Given the description of an element on the screen output the (x, y) to click on. 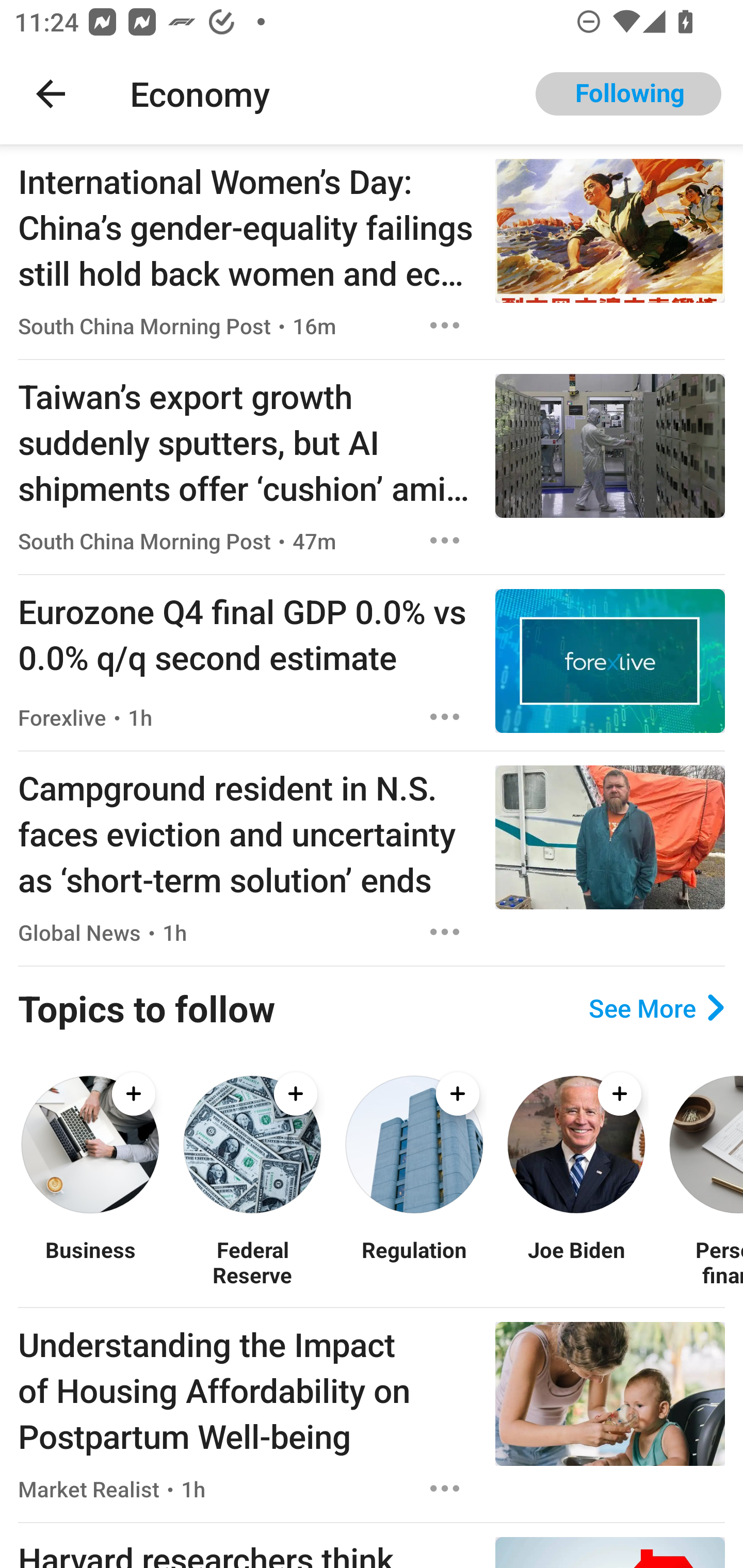
Navigate up (50, 93)
Following (628, 94)
Options (444, 325)
Options (444, 540)
Options (444, 716)
Options (444, 932)
See More (656, 1007)
Business (89, 1261)
Federal Reserve (251, 1261)
Regulation (413, 1261)
Joe Biden (575, 1261)
Options (444, 1488)
